Given the description of an element on the screen output the (x, y) to click on. 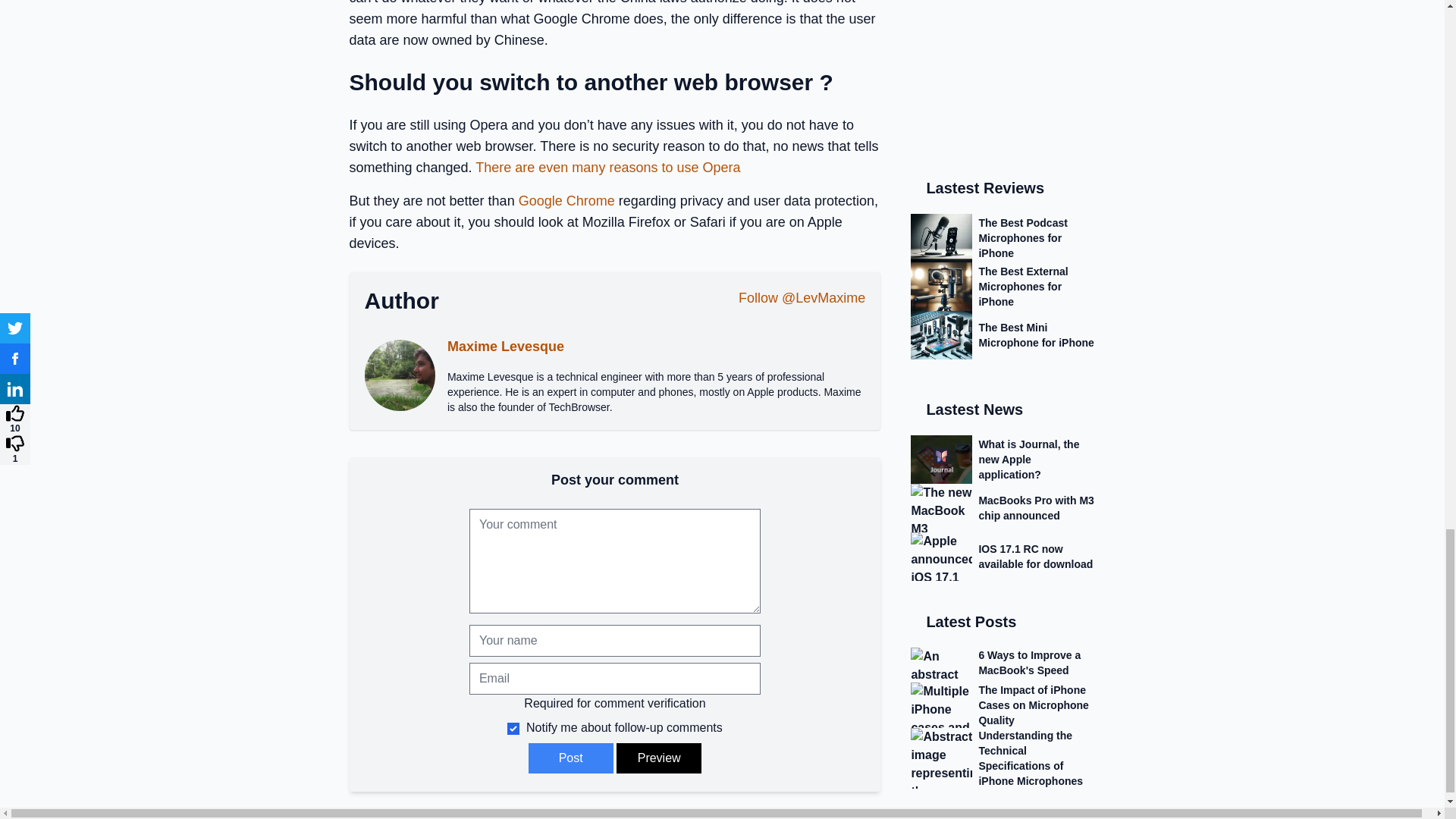
Maxime Levesque (505, 346)
Preview (658, 757)
on (512, 728)
Post (570, 757)
There are even many reasons to use Opera (607, 167)
Preview (658, 757)
Post (570, 757)
Google Chrome (566, 200)
